Given the description of an element on the screen output the (x, y) to click on. 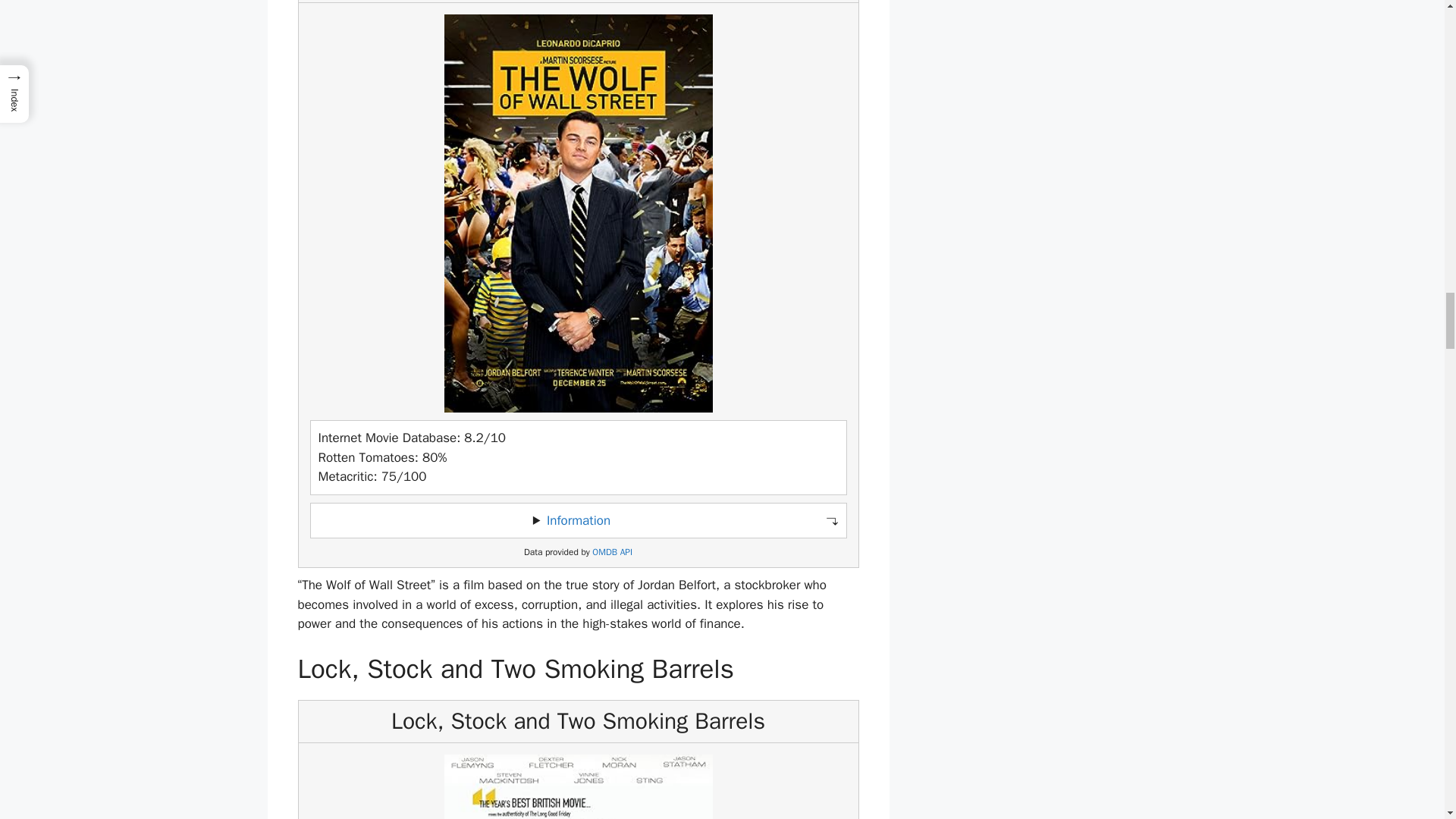
OMDB API (611, 552)
Information (578, 520)
Open Movie Database API (611, 552)
Toggle information (578, 520)
